Given the description of an element on the screen output the (x, y) to click on. 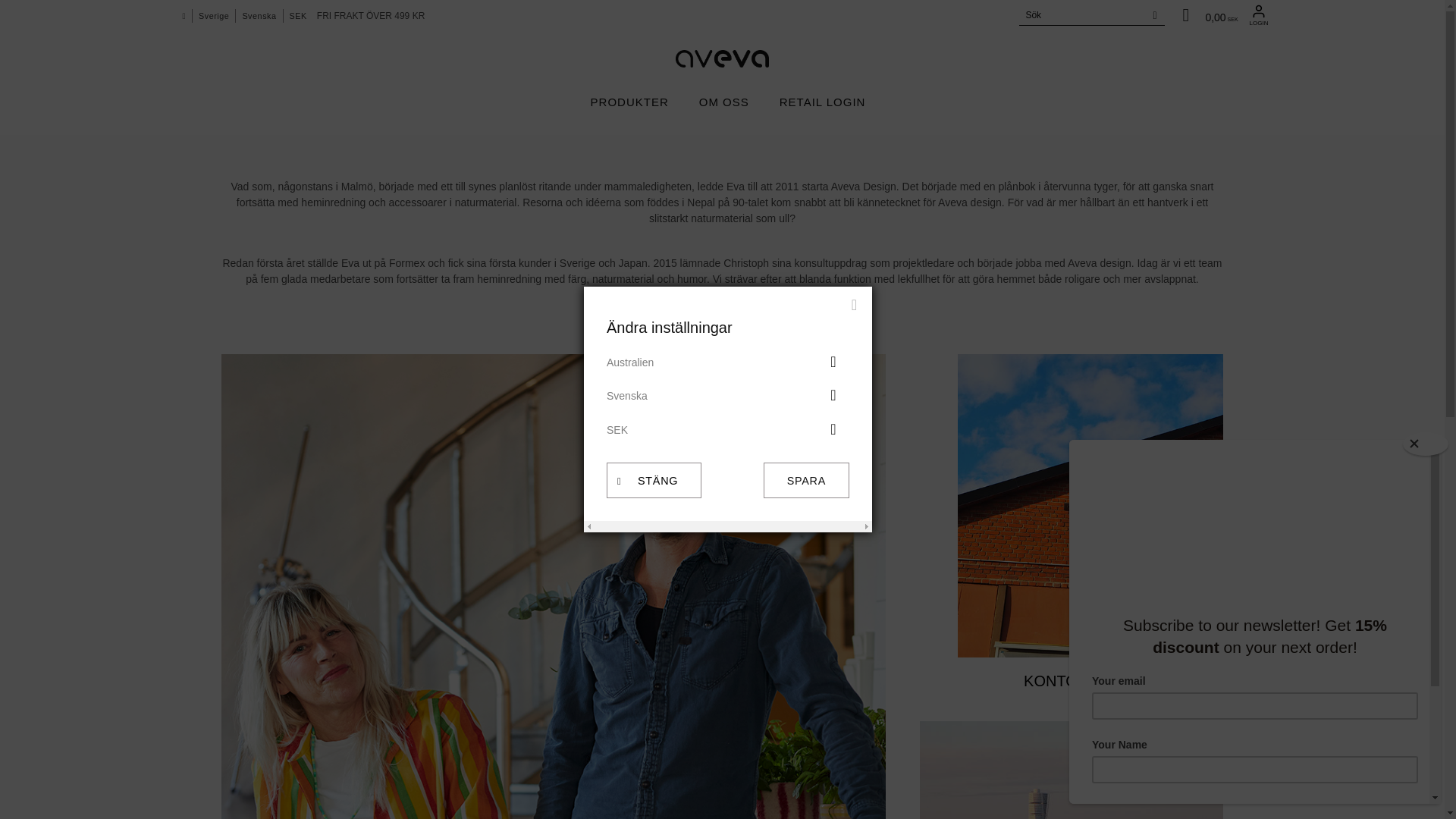
Produkter (629, 102)
PRODUKTER (629, 102)
